Given the description of an element on the screen output the (x, y) to click on. 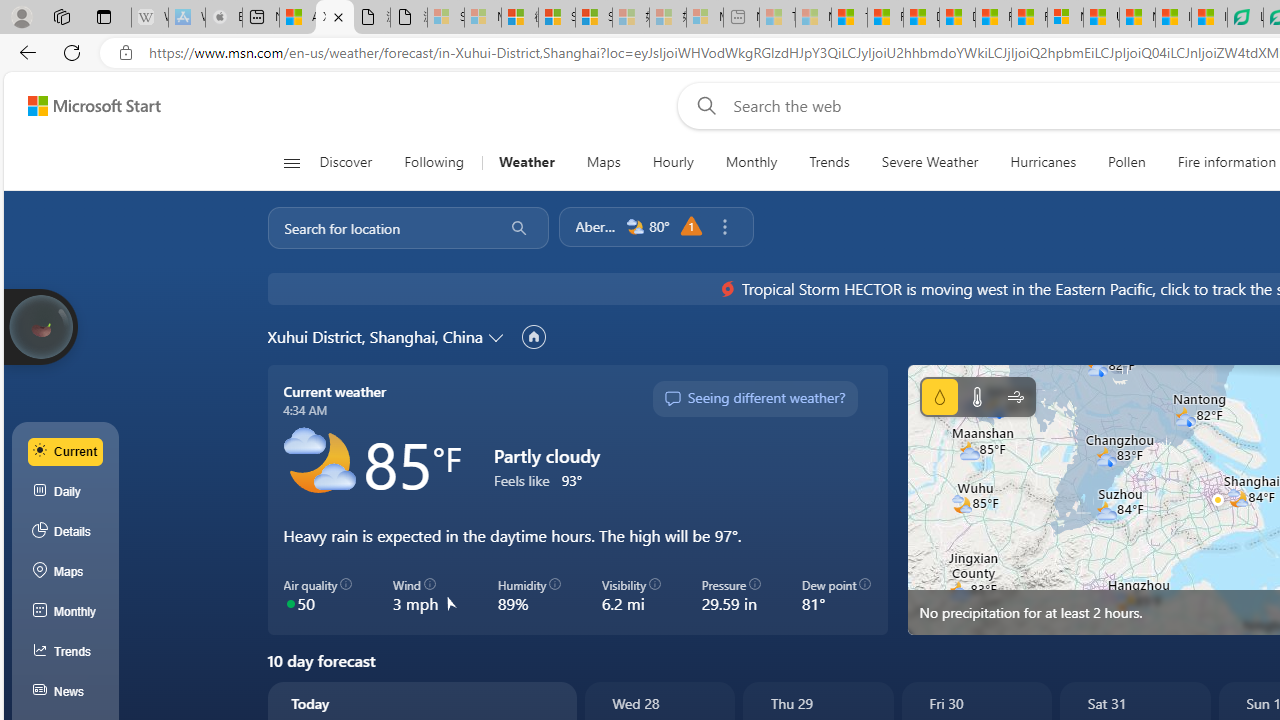
Drinking tea every day is proven to delay biological aging (957, 17)
Top Stories - MSN - Sleeping (777, 17)
Maps (603, 162)
LendingTree - Compare Lenders (1245, 17)
Hurricanes (1043, 162)
Maps (65, 572)
Foo BAR | Trusted Community Engagement and Contributions (1029, 17)
Maps (603, 162)
Xuhui District, Shanghai, China (374, 336)
